Given the description of an element on the screen output the (x, y) to click on. 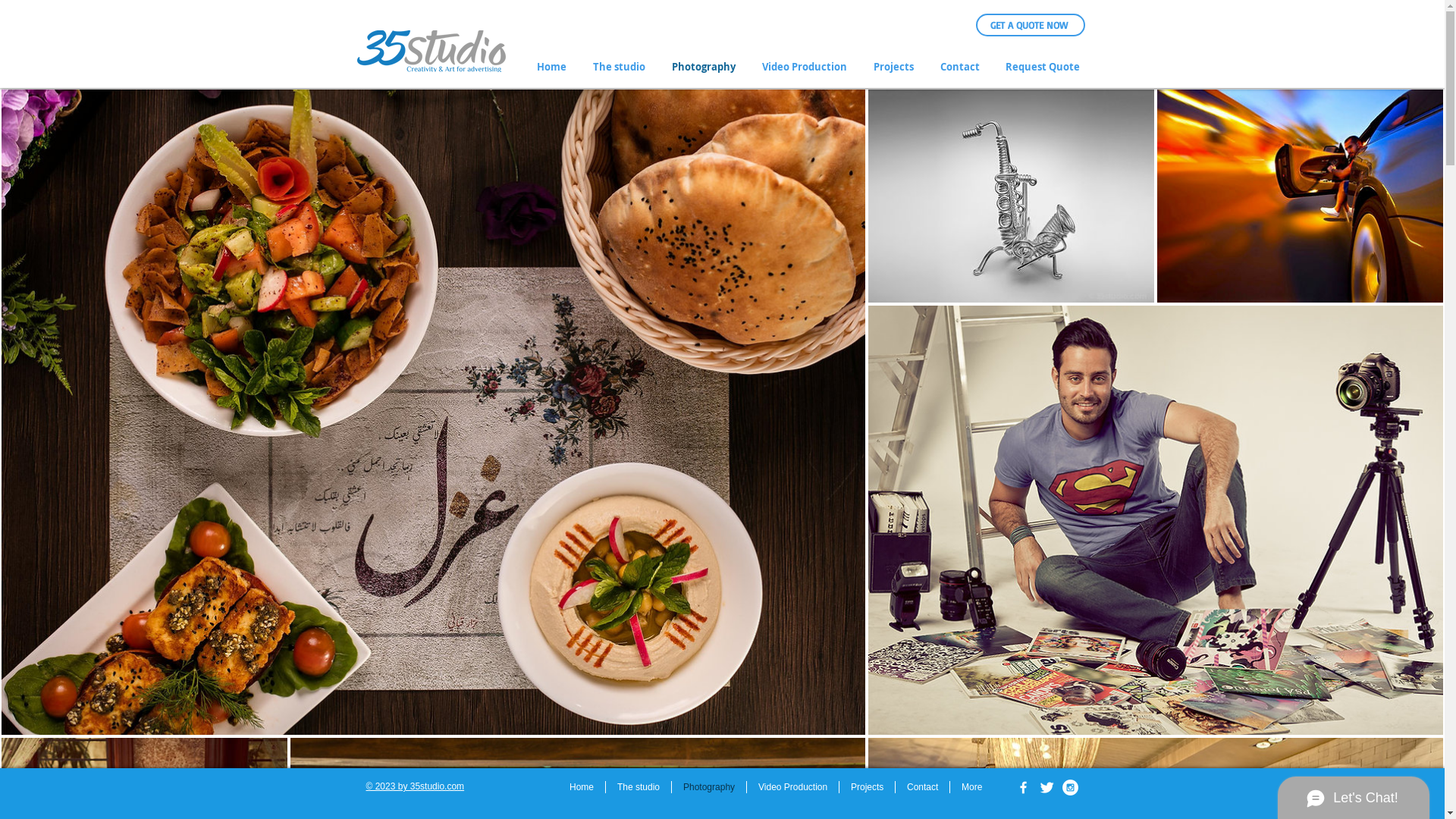
Contact Element type: text (960, 66)
The studio Element type: text (638, 787)
Photography Element type: text (708, 787)
Video Production Element type: text (792, 787)
Home Element type: text (552, 66)
Home Element type: text (581, 787)
GET A QUOTE NOW Element type: text (1028, 25)
The studio Element type: text (619, 66)
Photography Element type: text (704, 66)
Request Quote Element type: text (1043, 66)
Video Production Element type: text (806, 66)
Projects Element type: text (866, 787)
Projects Element type: text (894, 66)
35studio logo Element type: hover (430, 51)
Contact Element type: text (922, 787)
